Given the description of an element on the screen output the (x, y) to click on. 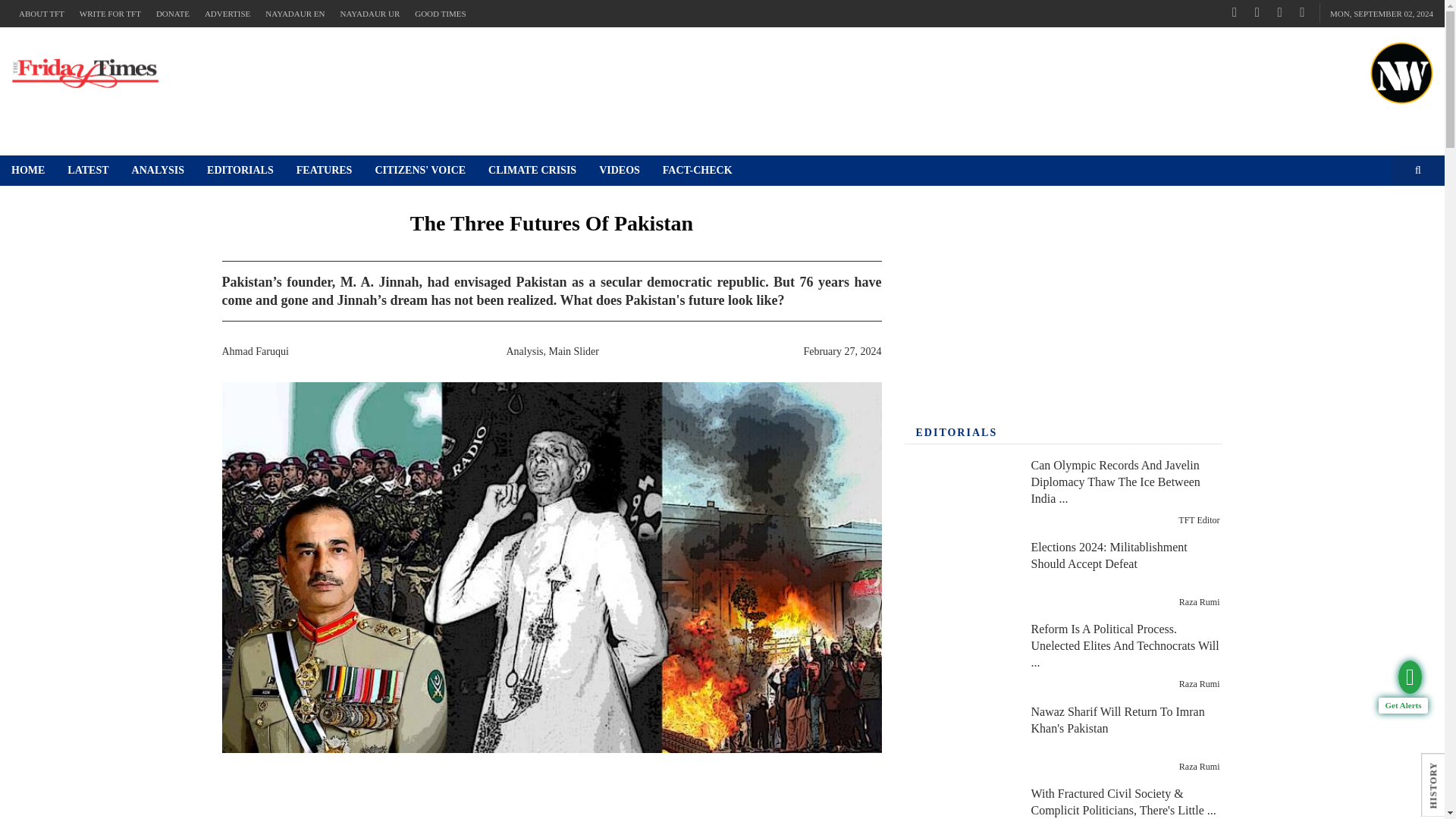
ANALYSIS (158, 170)
FEATURES (324, 170)
ADVERTISE (226, 13)
Nawaz Sharif Will Return To Imran Khan's Pakistan (959, 739)
CLIMATE CRISIS (532, 170)
Ahmad Faruqui (254, 351)
DONATE (172, 13)
WRITE FOR TFT (109, 13)
LATEST (87, 170)
EDITORIALS (240, 170)
